Given the description of an element on the screen output the (x, y) to click on. 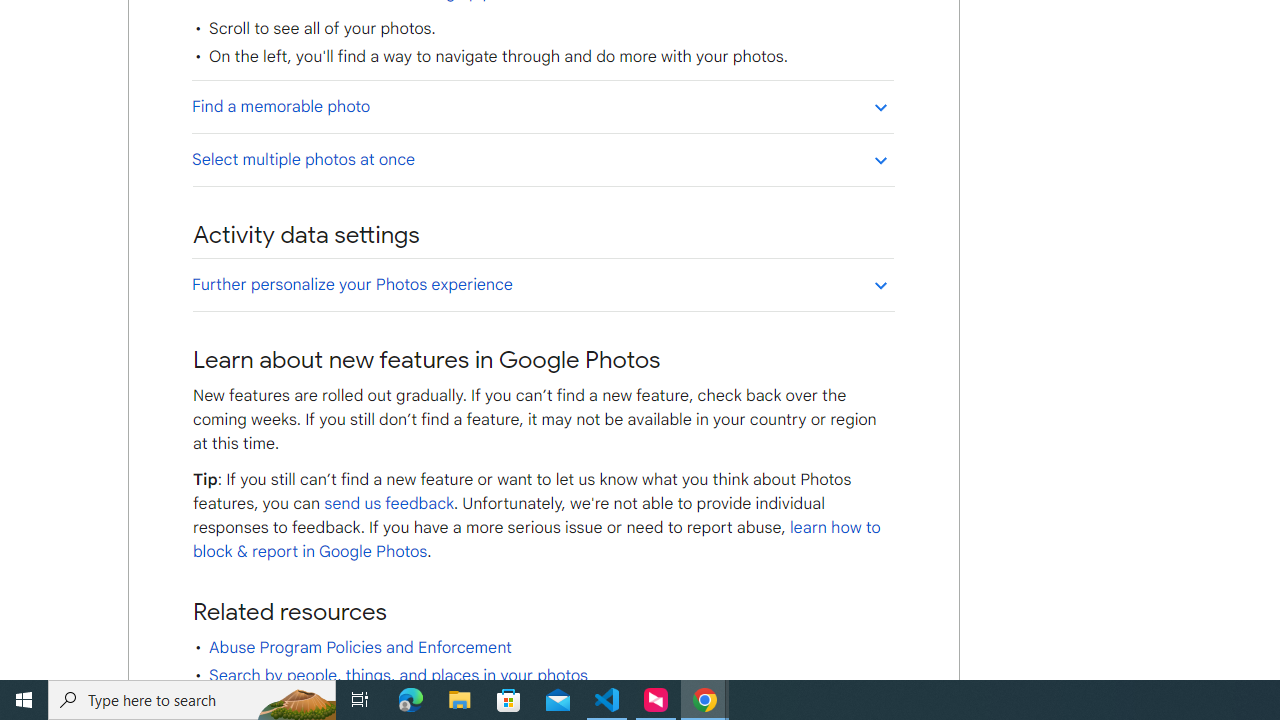
Search by people, things, and places in your photos (397, 676)
Select multiple photos at once (542, 159)
Further personalize your Photos experience (542, 284)
send us feedback (388, 503)
Abuse Program Policies and Enforcement (360, 647)
Find a memorable photo (542, 106)
learn how to block & report in Google Photos (536, 539)
